Given the description of an element on the screen output the (x, y) to click on. 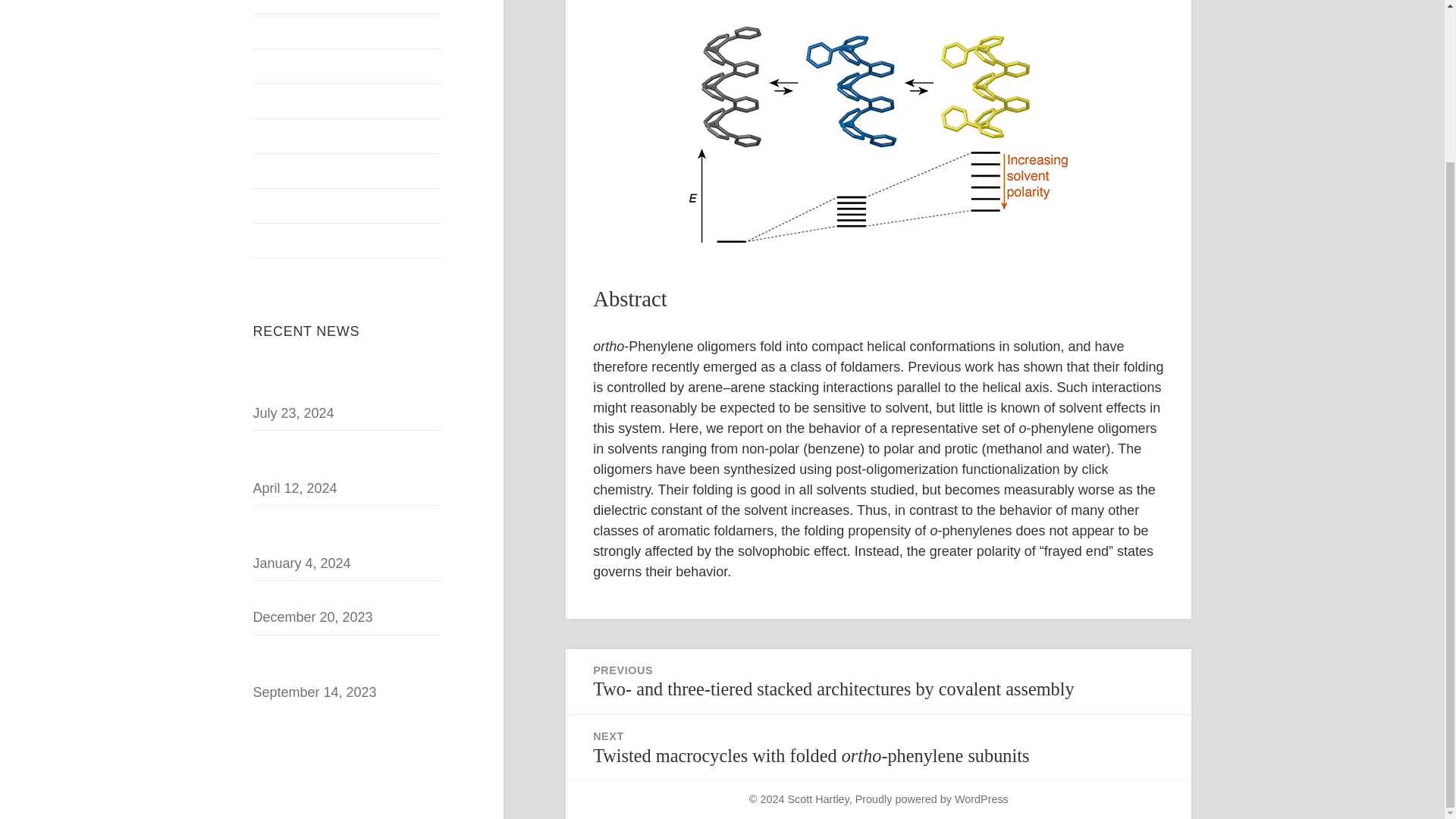
Home (347, 6)
News (347, 31)
Publications (347, 205)
Kenzie Johnson and Annabelle Ryu join group (347, 661)
Facilities (347, 170)
Research (347, 135)
Mandira Ghimire joins group (339, 596)
Group (347, 66)
Proudly powered by WordPress (932, 799)
